Given the description of an element on the screen output the (x, y) to click on. 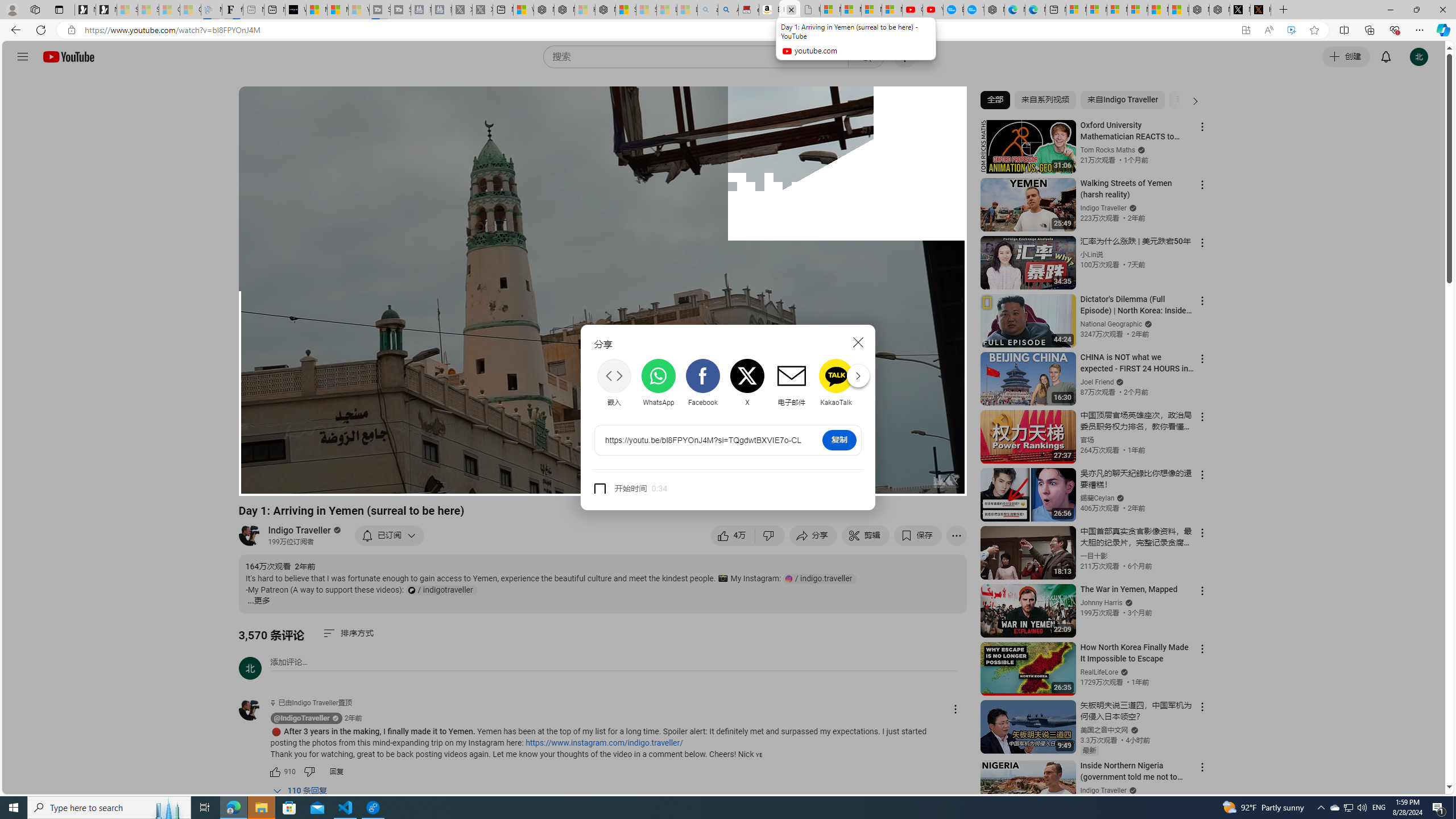
Patreon Channel Link: indigotraveller (441, 590)
KakaoTalk (836, 383)
AutomationID: simplebox-placeholder (288, 662)
